Given the description of an element on the screen output the (x, y) to click on. 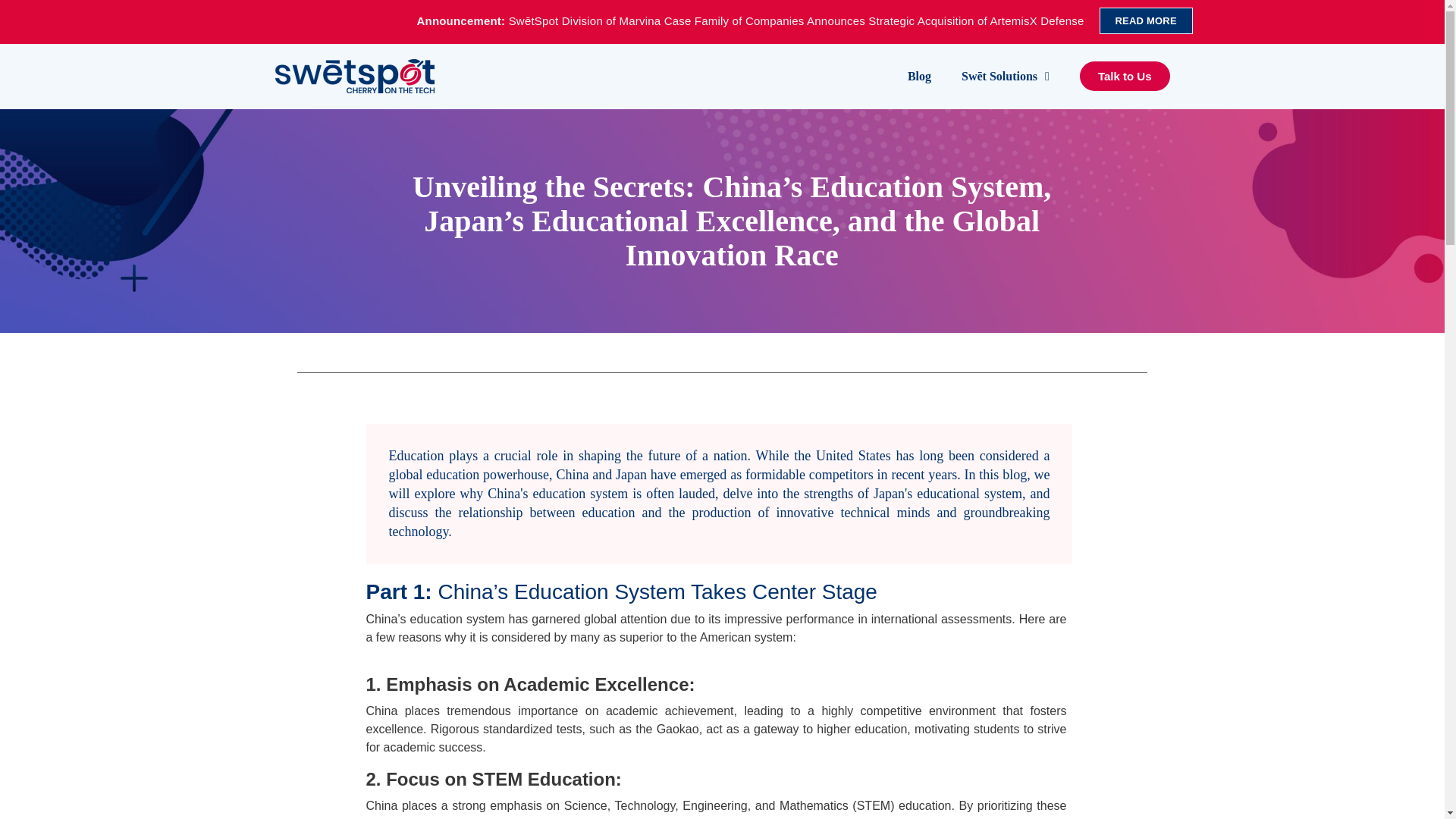
READ MORE (1145, 20)
new logo sp (354, 75)
Talk to Us (1125, 75)
Blog (919, 76)
